Given the description of an element on the screen output the (x, y) to click on. 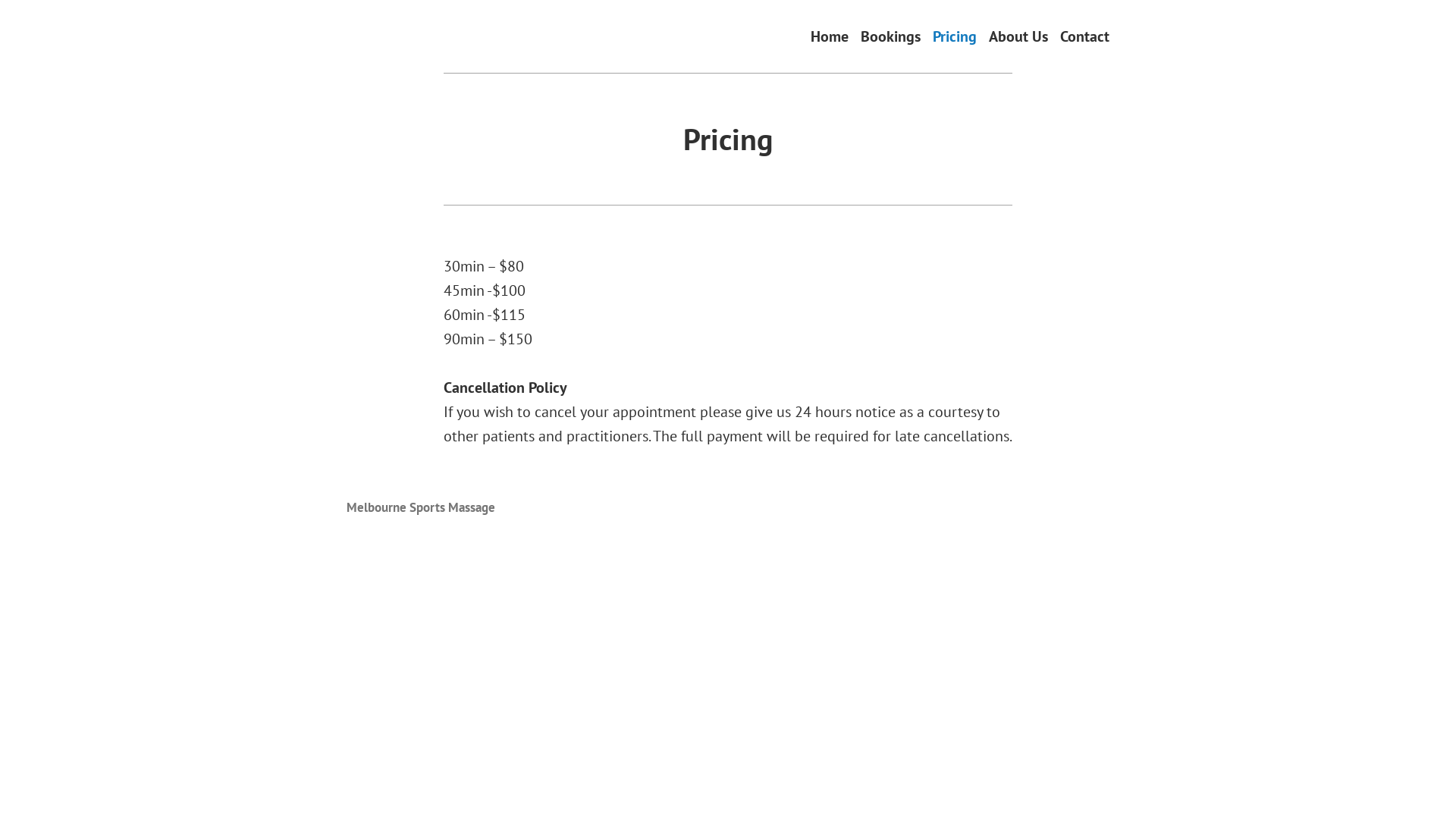
Bookings Element type: text (890, 35)
Pricing Element type: text (954, 35)
Home Element type: text (829, 35)
About Us Element type: text (1018, 35)
Contact Element type: text (1084, 35)
Melbourne Sports Massage Element type: text (420, 506)
